Given the description of an element on the screen output the (x, y) to click on. 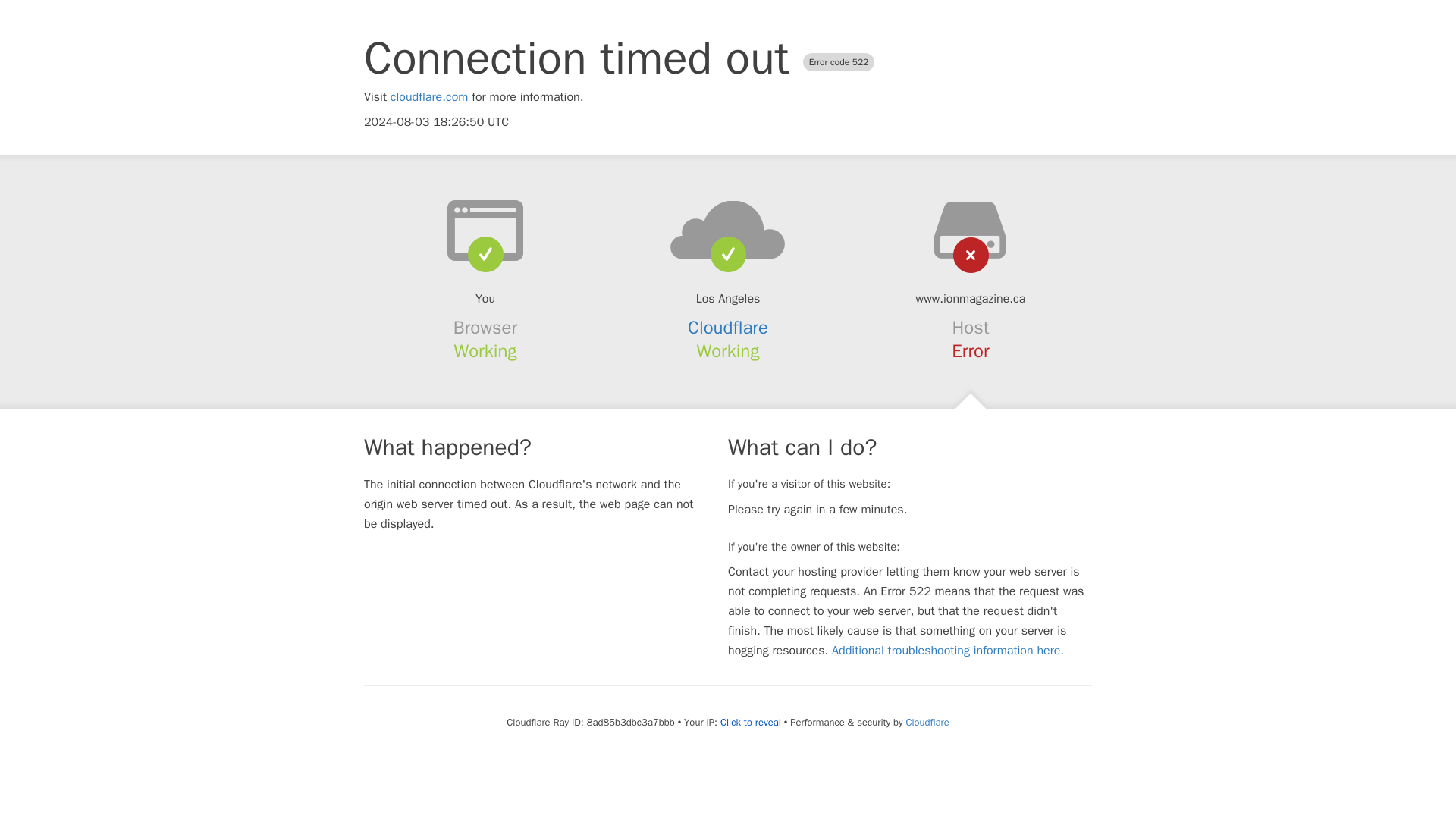
Additional troubleshooting information here. (947, 650)
cloudflare.com (429, 96)
Cloudflare (727, 327)
Click to reveal (750, 722)
Cloudflare (927, 721)
